Given the description of an element on the screen output the (x, y) to click on. 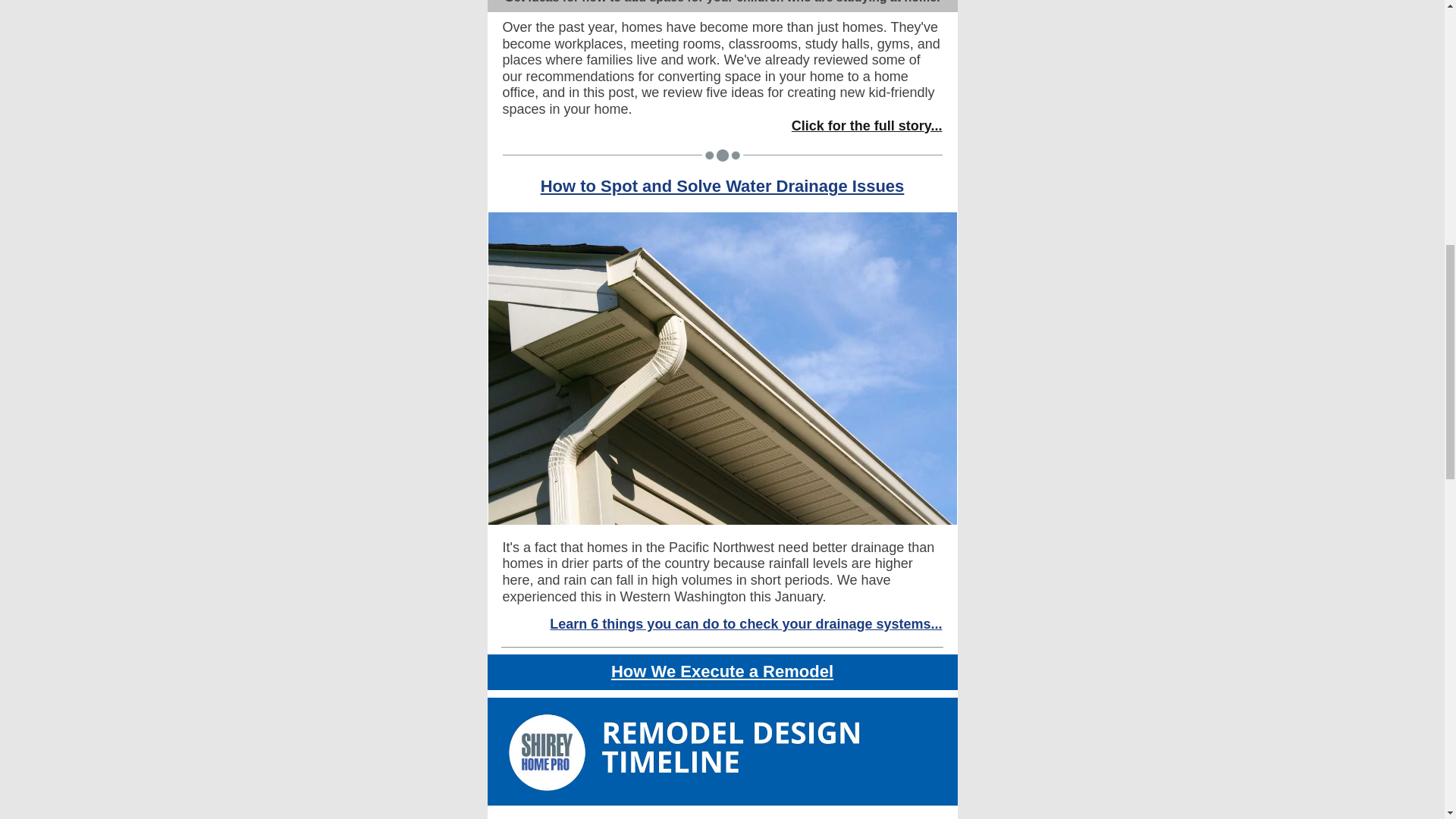
How We Execute a Remodel (721, 670)
Click for the full story... (867, 125)
How to Spot and Solve Water Drainage Issues (722, 185)
Learn 6 things you can do to check your drainage systems... (746, 623)
